Given the description of an element on the screen output the (x, y) to click on. 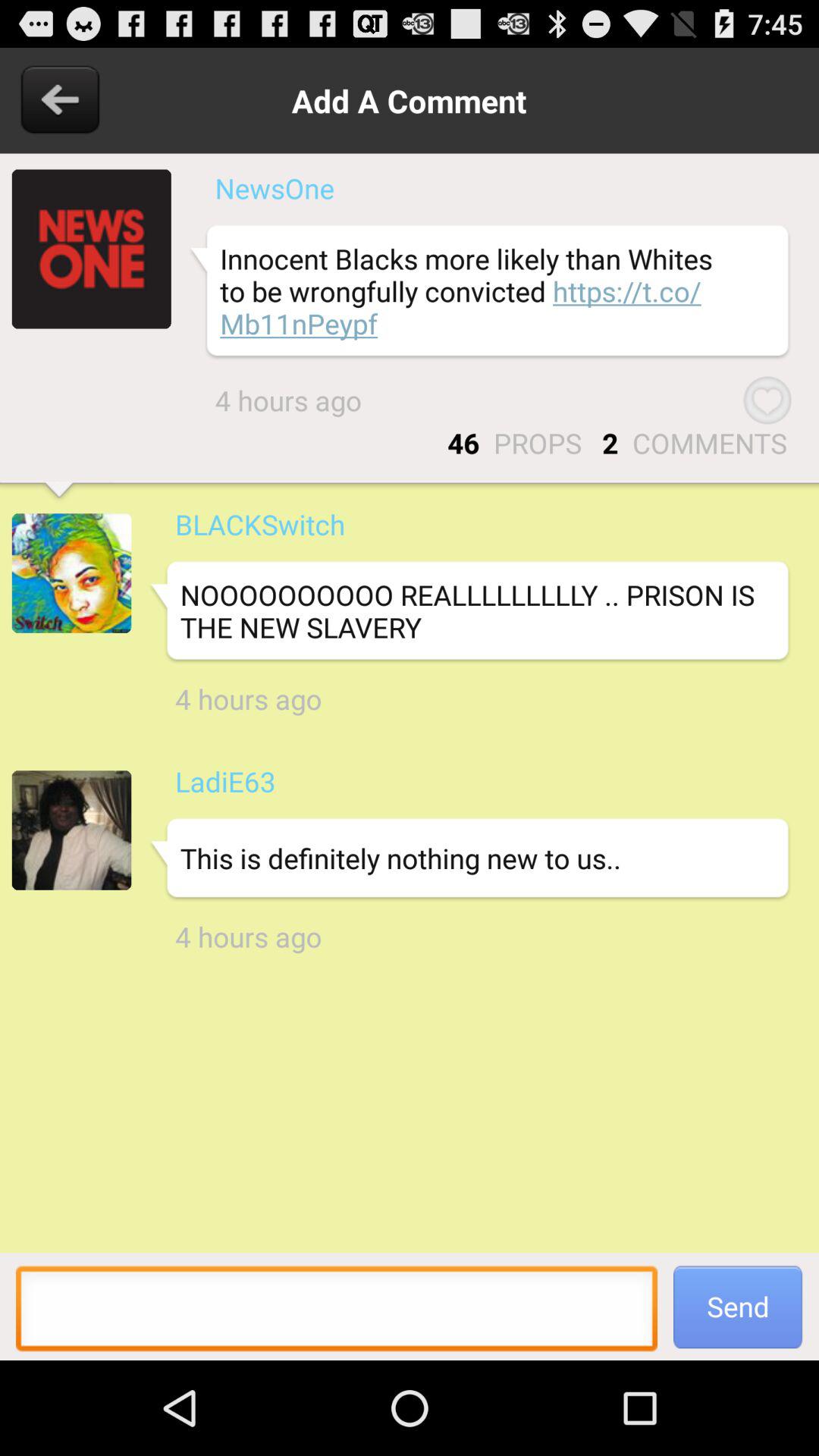
press send item (738, 1306)
